Given the description of an element on the screen output the (x, y) to click on. 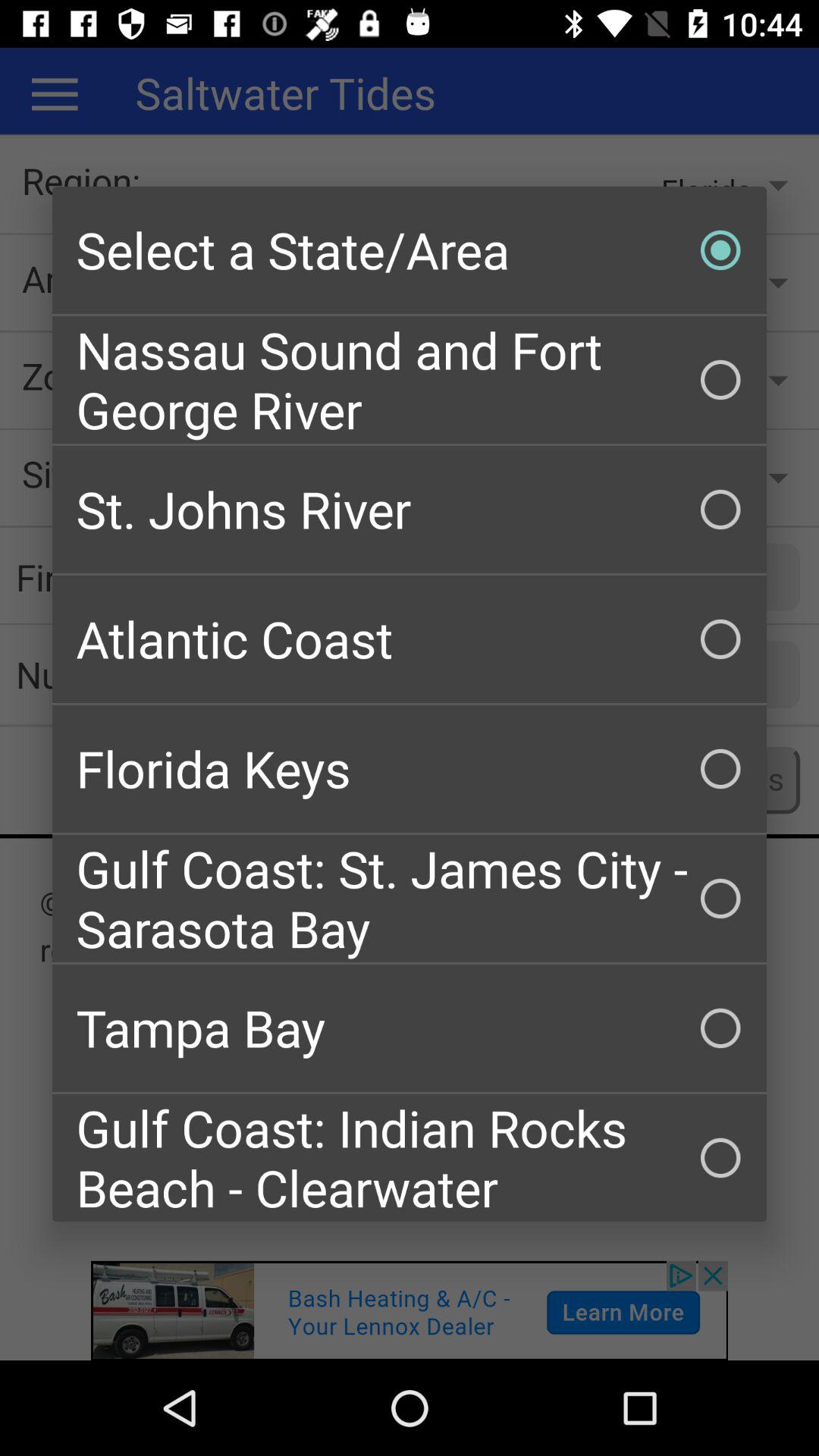
open the atlantic coast checkbox (409, 638)
